Given the description of an element on the screen output the (x, y) to click on. 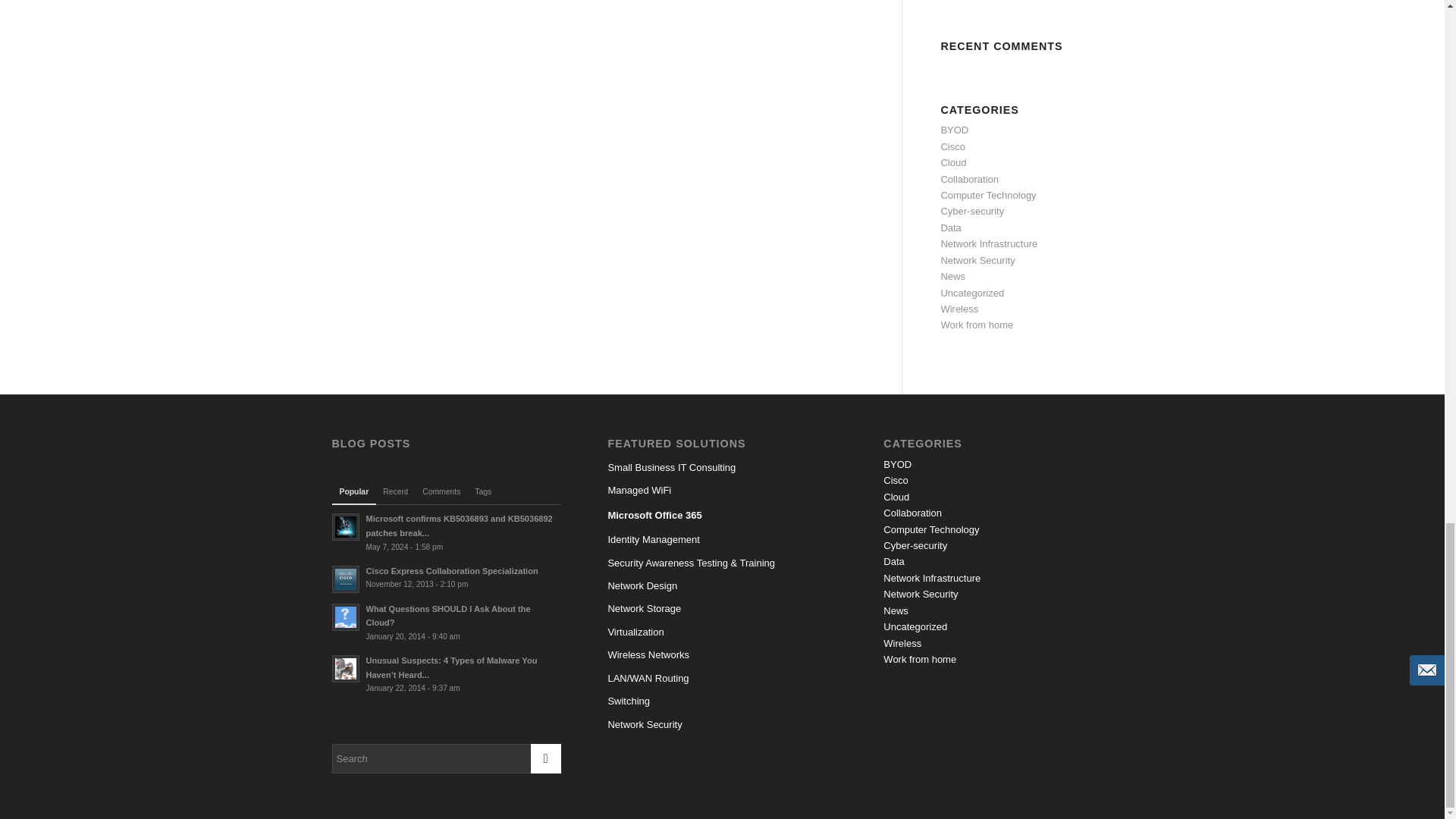
Cisco Express Collaboration Specialization (445, 577)
